Given the description of an element on the screen output the (x, y) to click on. 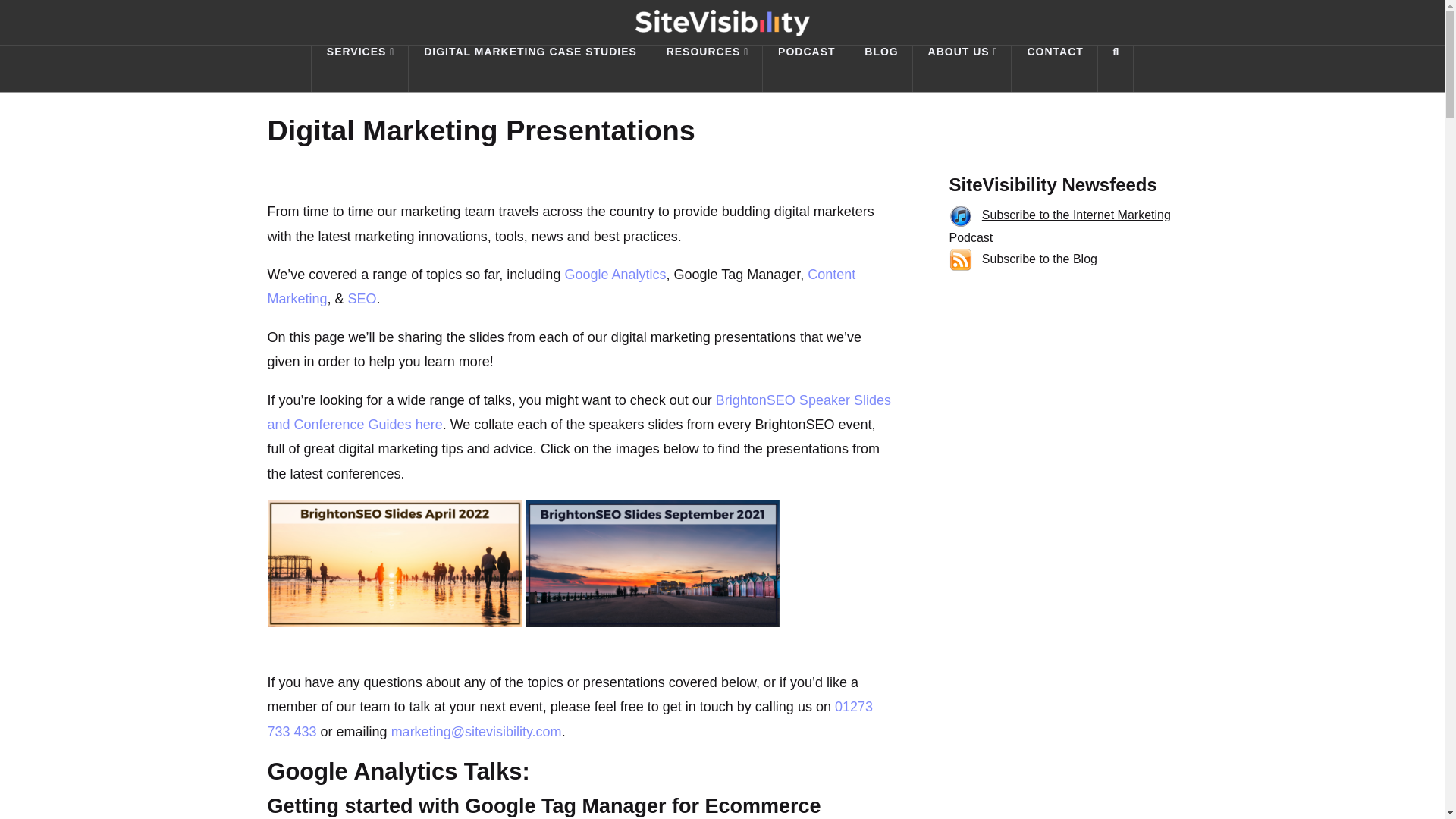
BLOG (880, 68)
DIGITAL MARKETING CASE STUDIES (529, 68)
PODCAST (805, 68)
SERVICES (360, 68)
ABOUT US (961, 68)
RESOURCES (706, 68)
CONTACT (1054, 68)
